Given the description of an element on the screen output the (x, y) to click on. 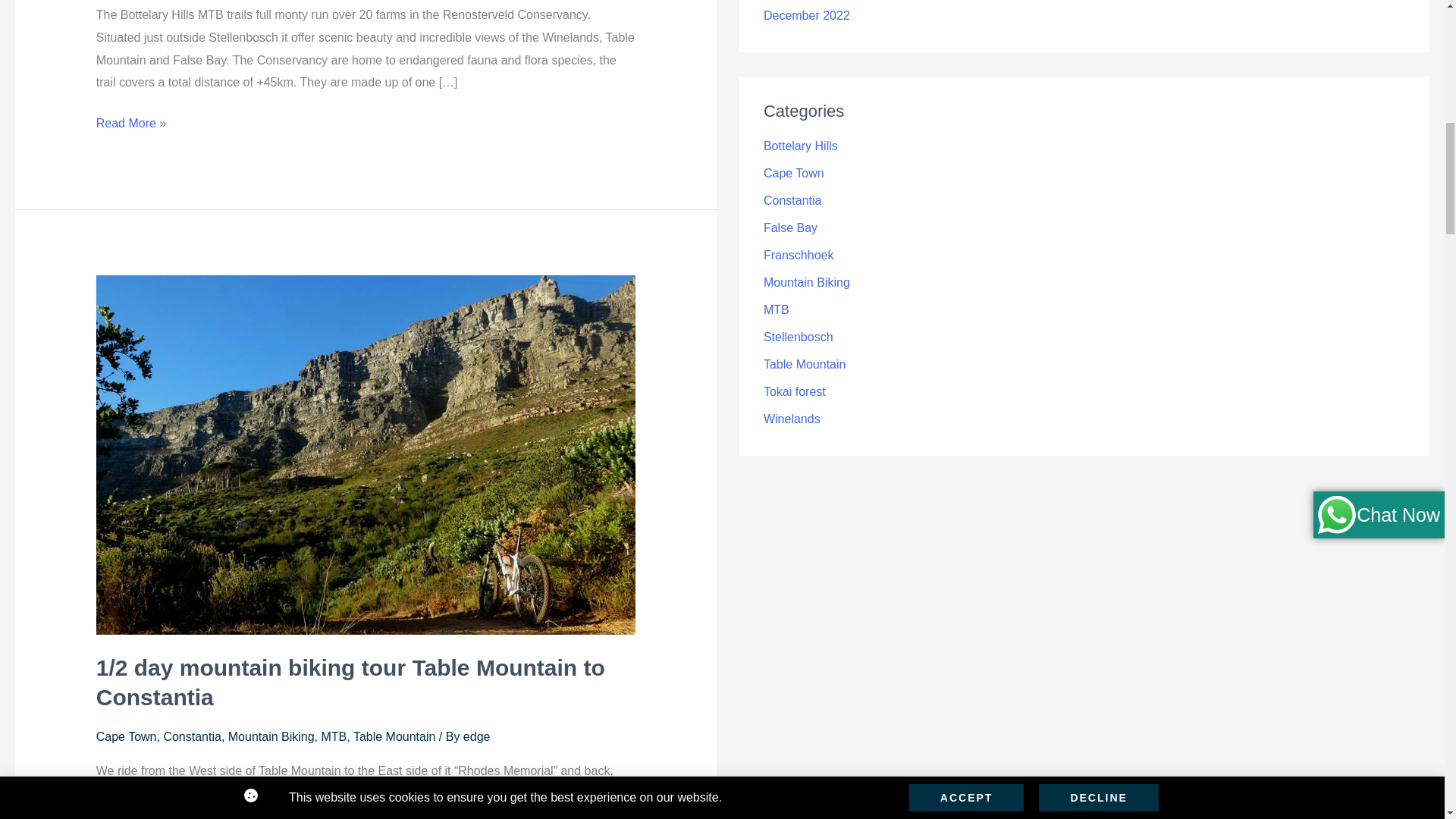
View all posts by edge (476, 736)
